Given the description of an element on the screen output the (x, y) to click on. 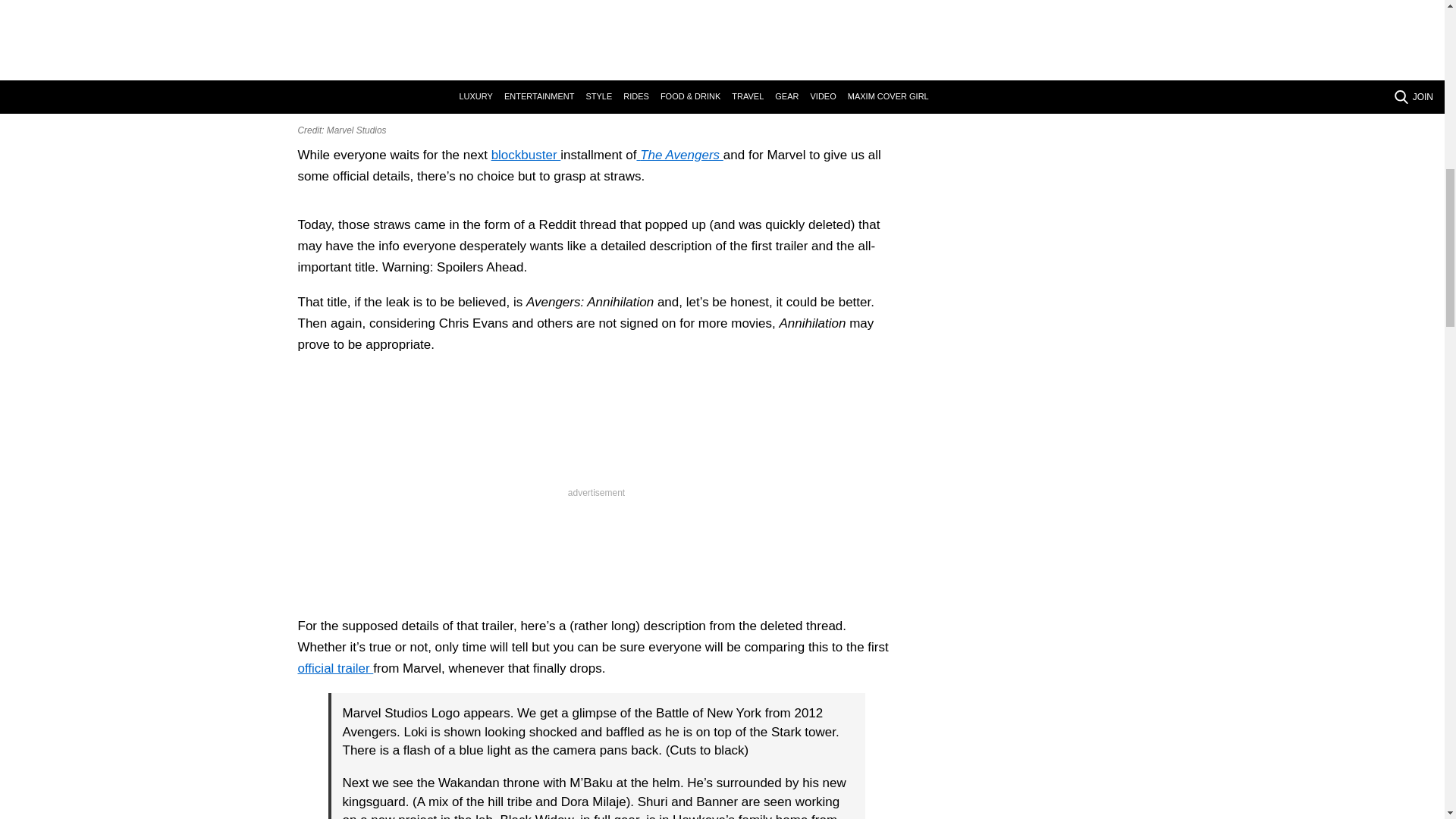
AV4 Promo (596, 58)
